Given the description of an element on the screen output the (x, y) to click on. 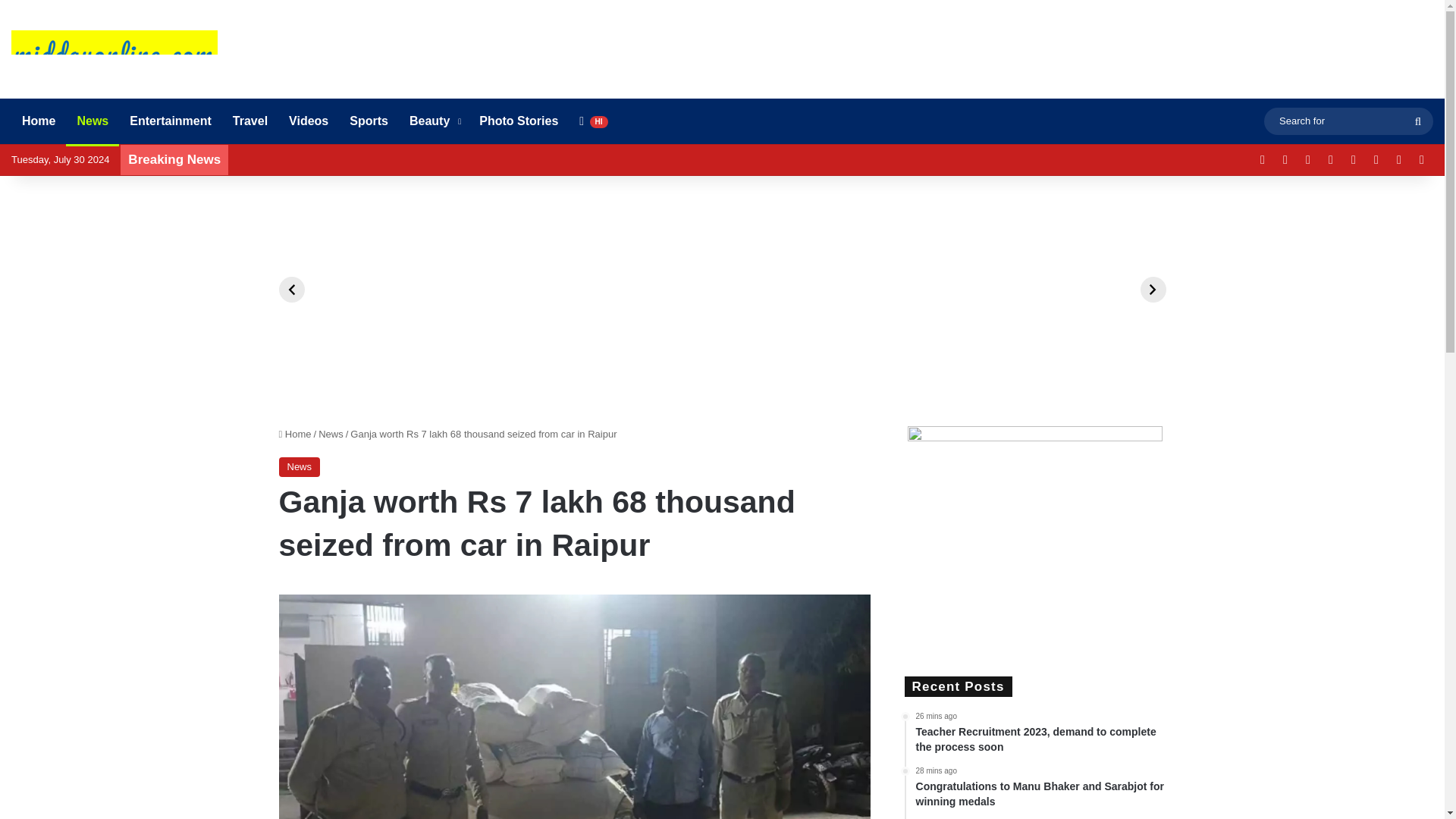
Sports (368, 121)
Home (38, 121)
Videos (308, 121)
Photo Stories (518, 121)
Travel (250, 121)
Beauty (433, 121)
Search for (1347, 120)
News (92, 121)
Entertainment (170, 121)
middayonline (113, 55)
HI (593, 121)
Search for (1417, 121)
